Given the description of an element on the screen output the (x, y) to click on. 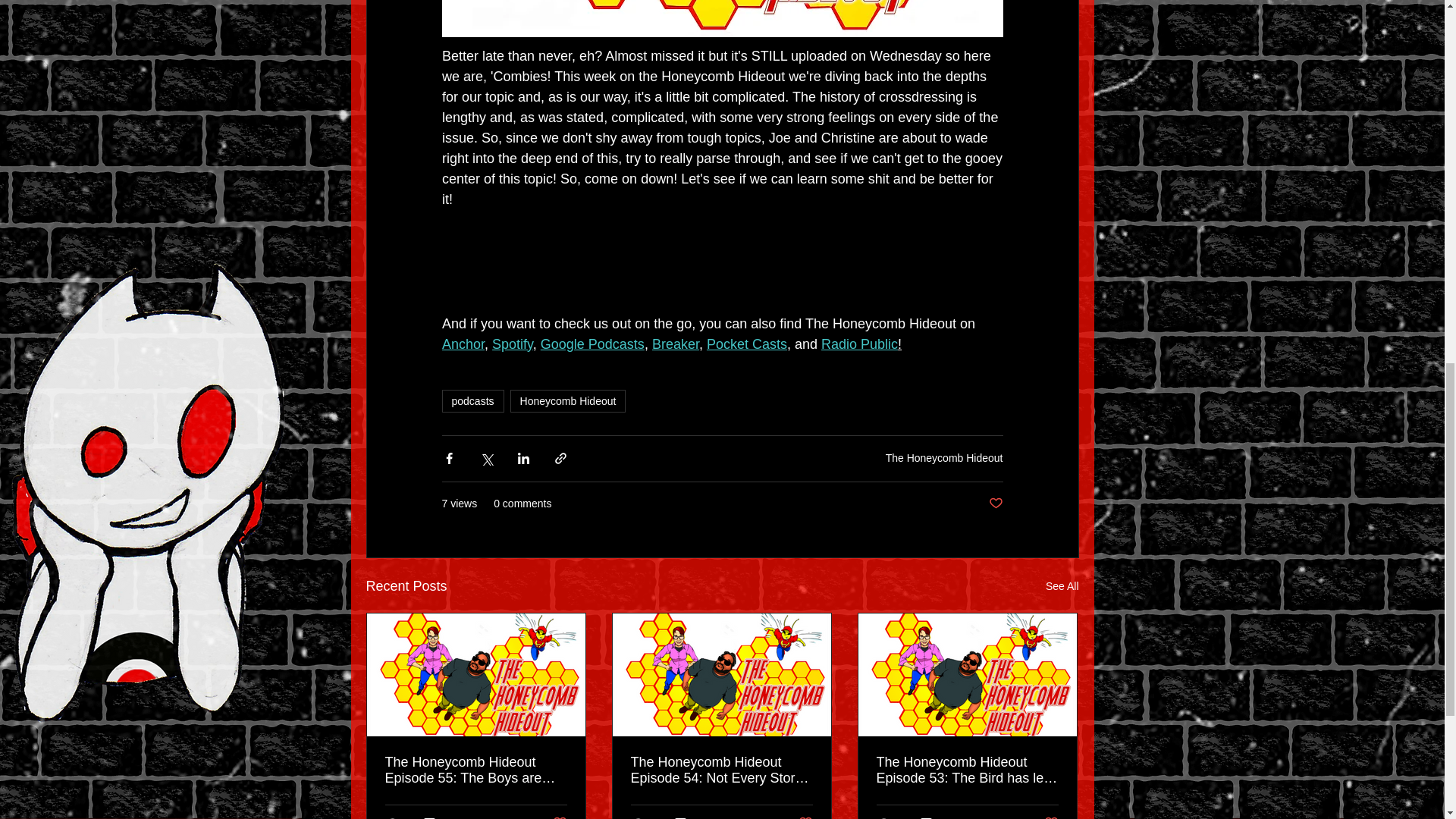
Anchor (462, 344)
